Given the description of an element on the screen output the (x, y) to click on. 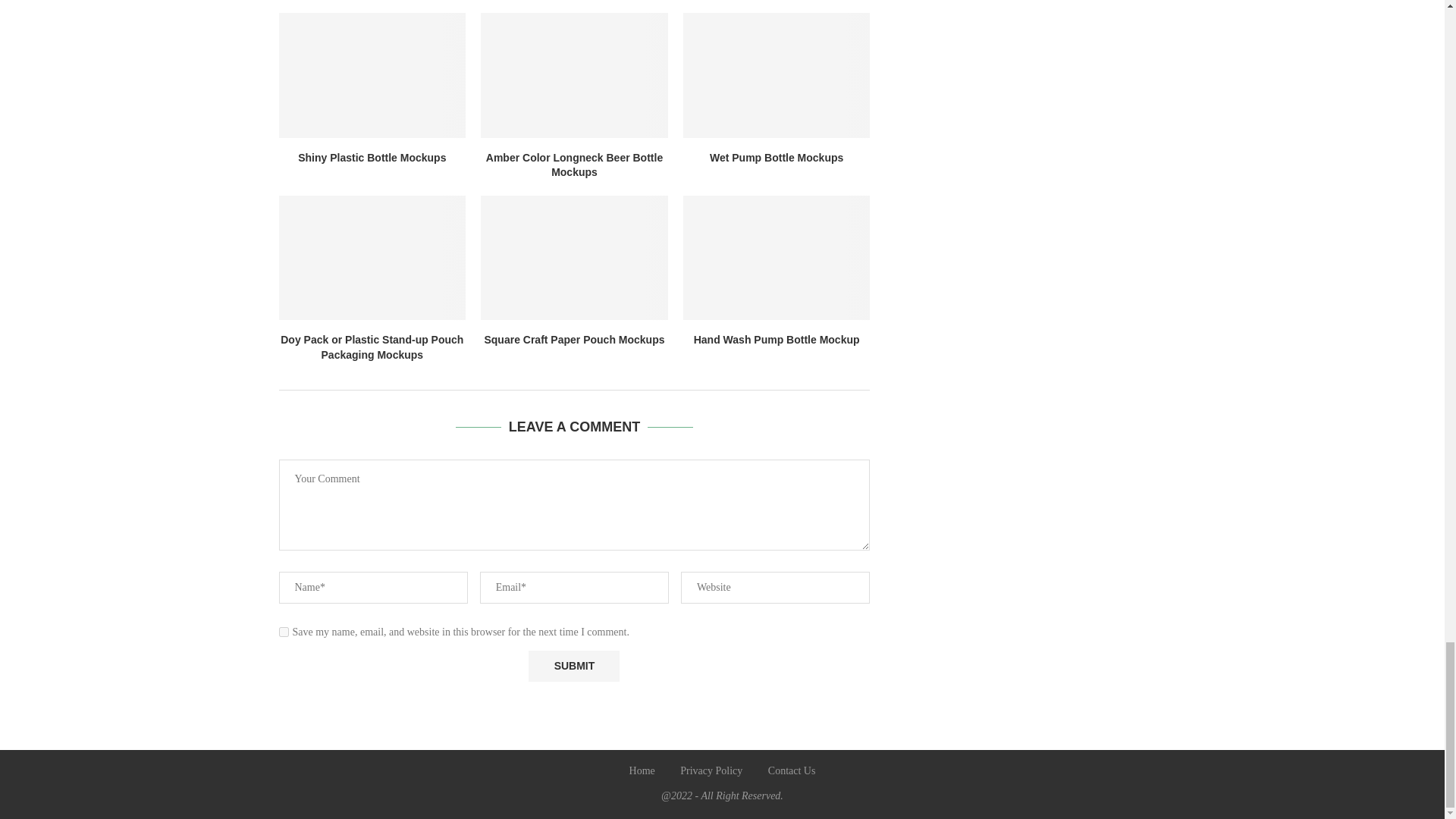
Submit (574, 665)
Square Craft Paper Pouch Mockups (574, 257)
Shiny Plastic Bottle Mockups (372, 75)
Doy Pack or Plastic Stand-up Pouch Packaging Mockups (372, 257)
yes (283, 632)
Amber Color Longneck Beer Bottle Mockups (574, 75)
Wet Pump Bottle Mockups (776, 75)
